Given the description of an element on the screen output the (x, y) to click on. 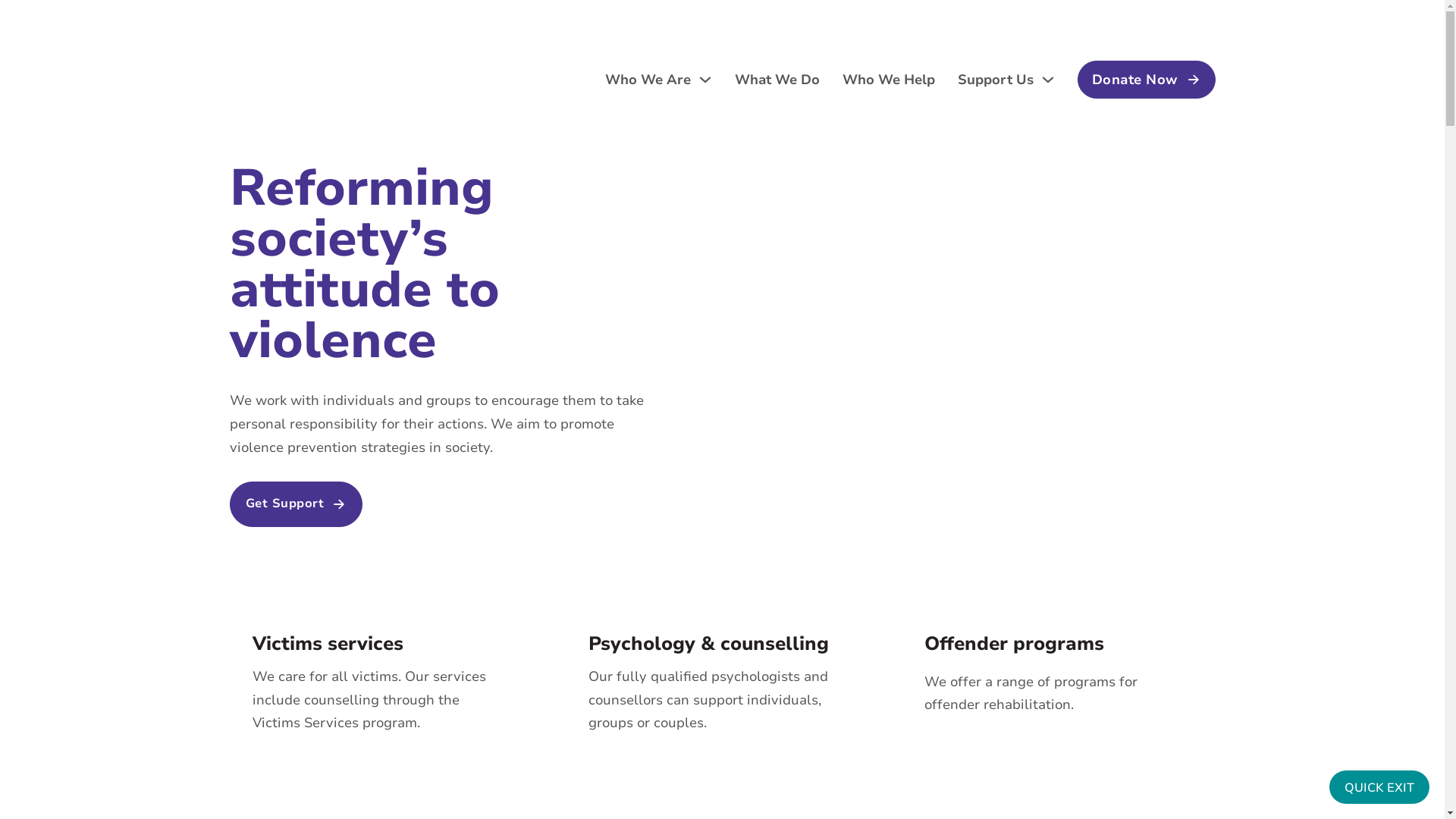
Get Support Element type: text (295, 504)
Who We Are Element type: text (647, 79)
What We Do Element type: text (776, 79)
Support Us Element type: text (994, 79)
Donate Now Element type: text (1145, 79)
Who We Help Element type: text (887, 79)
